Given the description of an element on the screen output the (x, y) to click on. 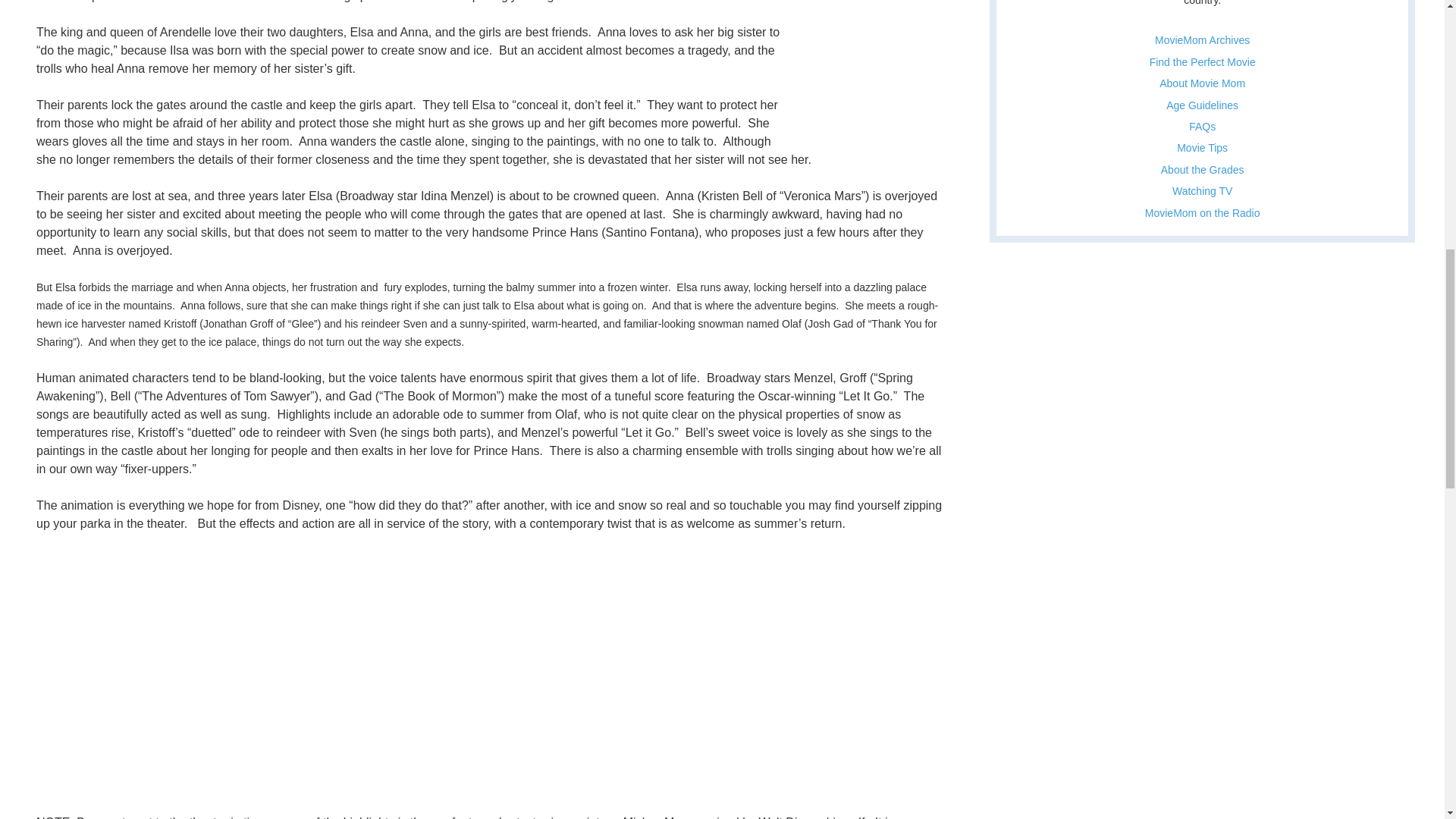
Movie Tips (1201, 147)
About Movie Mom (1201, 82)
Age Guidelines (1202, 105)
FAQs (1202, 126)
MovieMom Archives (1201, 39)
About the Grades (1202, 169)
Find the Perfect Movie (1202, 61)
Watching TV (1201, 191)
MovieMom on the Radio (1202, 213)
